Given the description of an element on the screen output the (x, y) to click on. 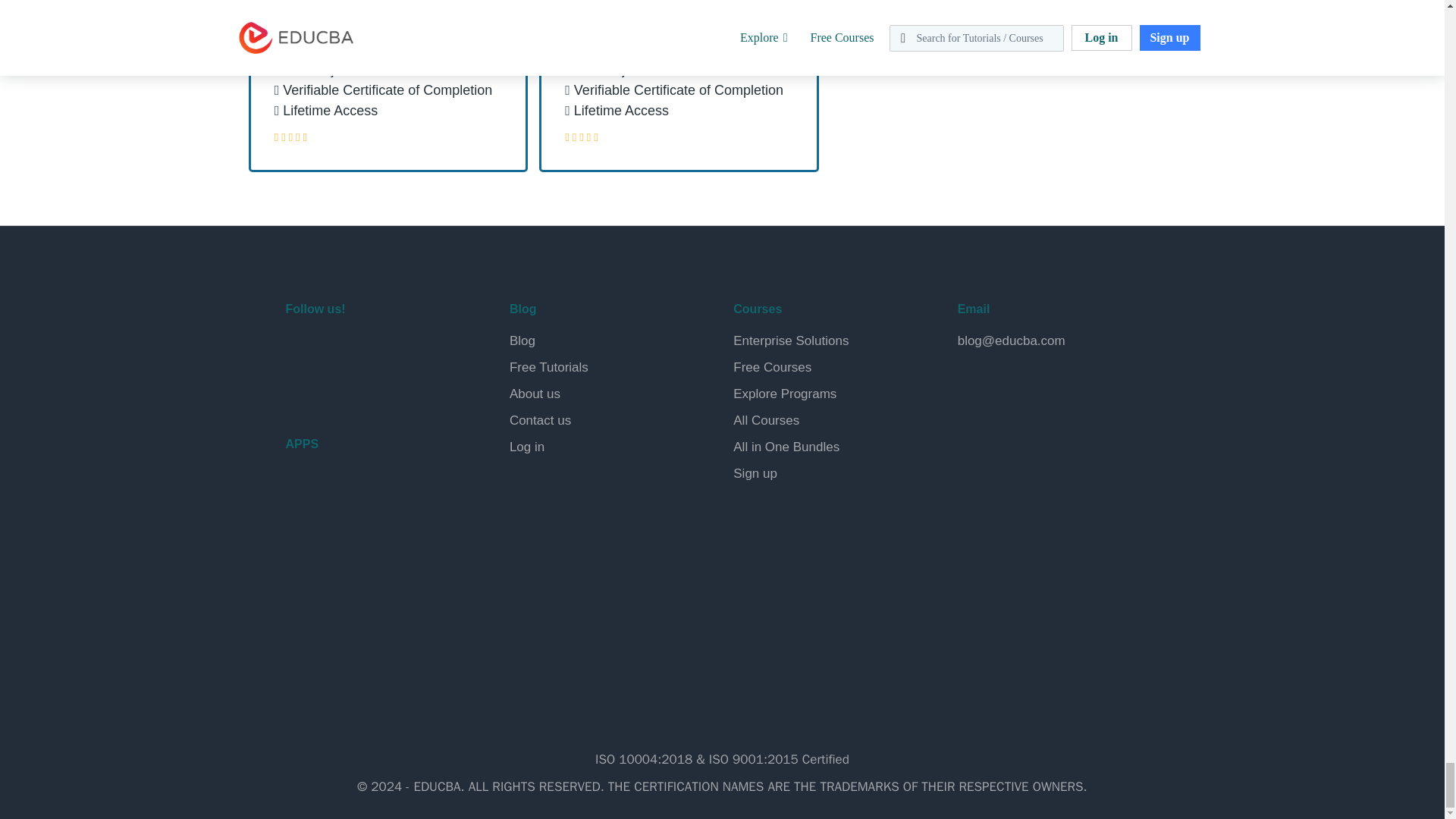
EDUCBA Udemy (371, 387)
EDUCBA Coursera (336, 387)
EDUCBA Facebook (300, 349)
EDUCBA iOS App (360, 562)
EDUCBA LinkedIN (371, 349)
EDUCBA Twitter (336, 349)
EDUCBA Instagram (408, 349)
EDUCBA Youtube (300, 387)
EDUCBA Android App (360, 498)
